Given the description of an element on the screen output the (x, y) to click on. 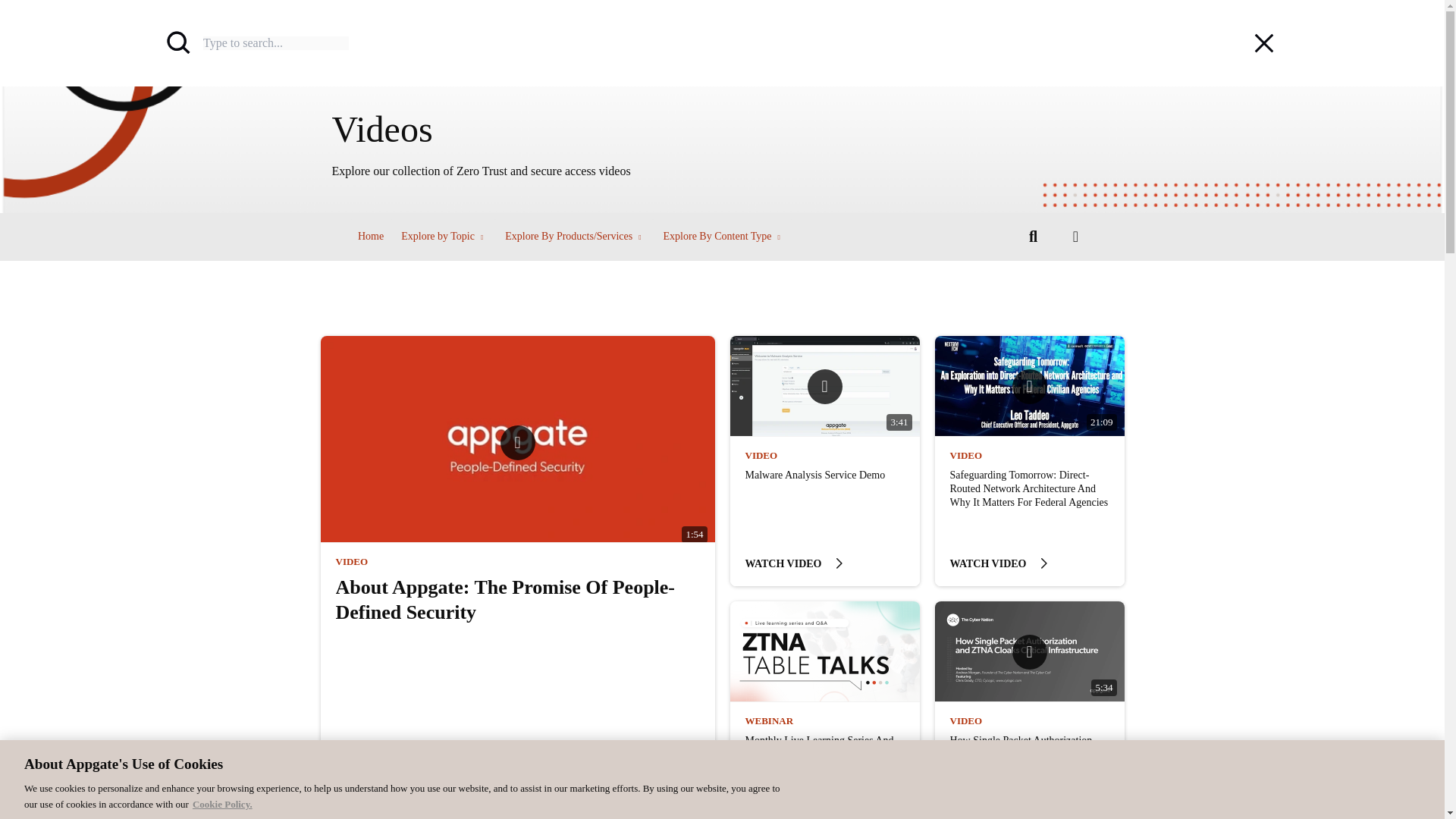
Customers (596, 50)
Share this Stream (1075, 236)
Search (1260, 9)
Returns to Appgate homepage (225, 50)
CONTACT (1155, 50)
Open Search Box (1032, 236)
Close search bar (1262, 42)
ZTNA FREE TRIAL (1231, 50)
